Given the description of an element on the screen output the (x, y) to click on. 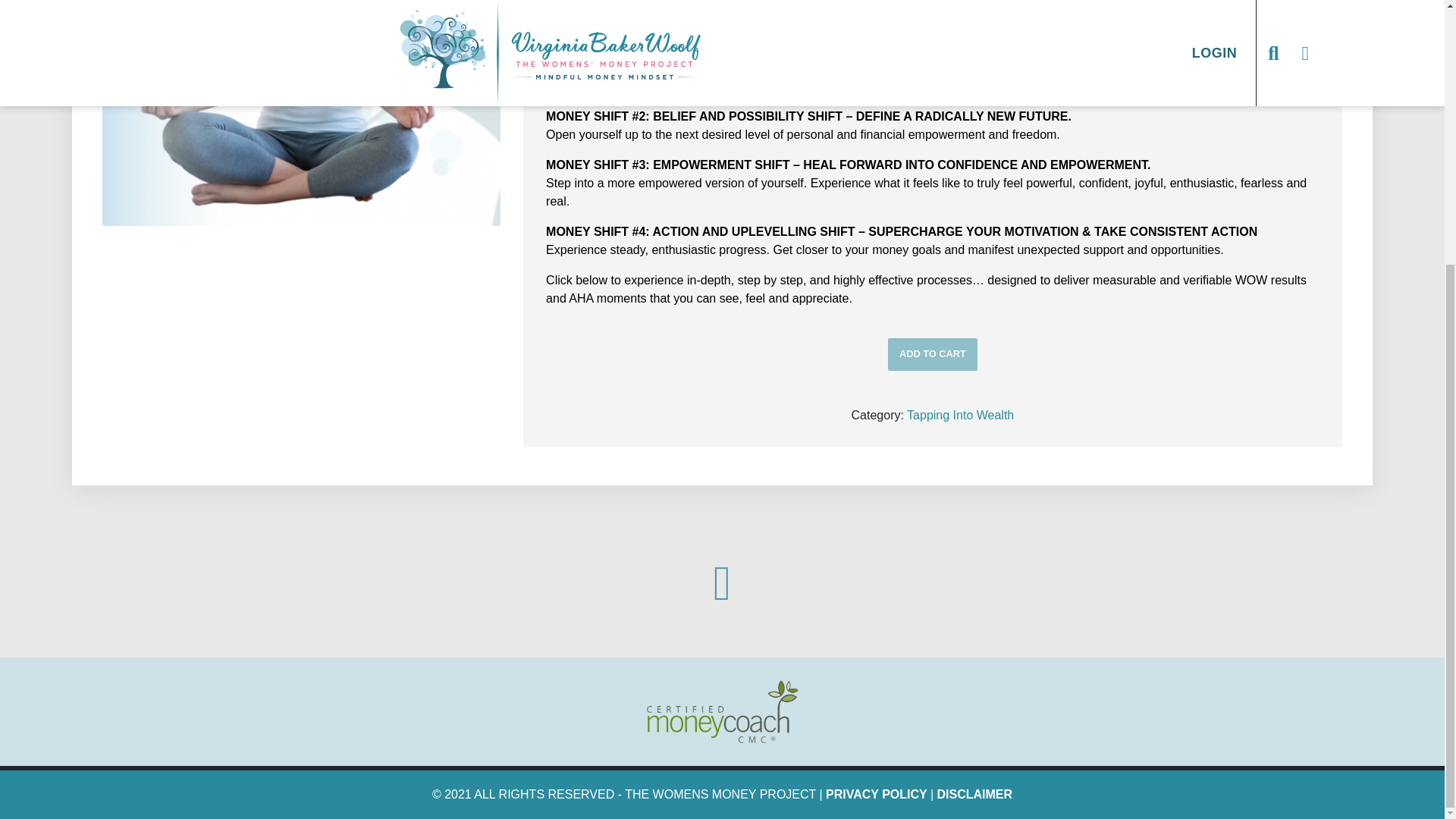
ADD TO CART (932, 354)
DISCLAIMER (975, 793)
Tapping Into Wealth (300, 113)
Tapping Into Wealth (960, 414)
PRIVACY POLICY (877, 793)
